Given the description of an element on the screen output the (x, y) to click on. 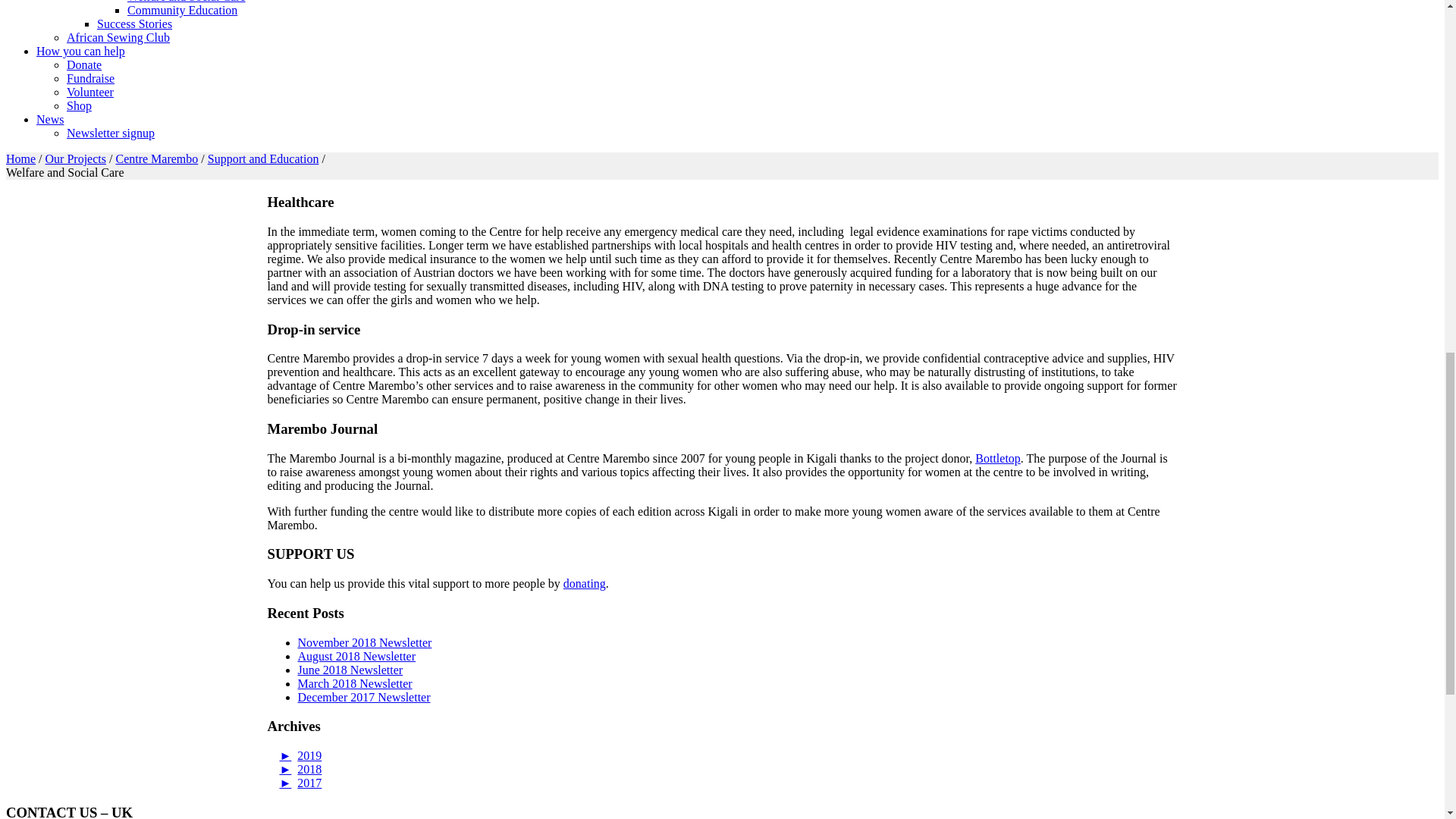
2018 (300, 768)
2017 (300, 782)
2019 (300, 755)
